Given the description of an element on the screen output the (x, y) to click on. 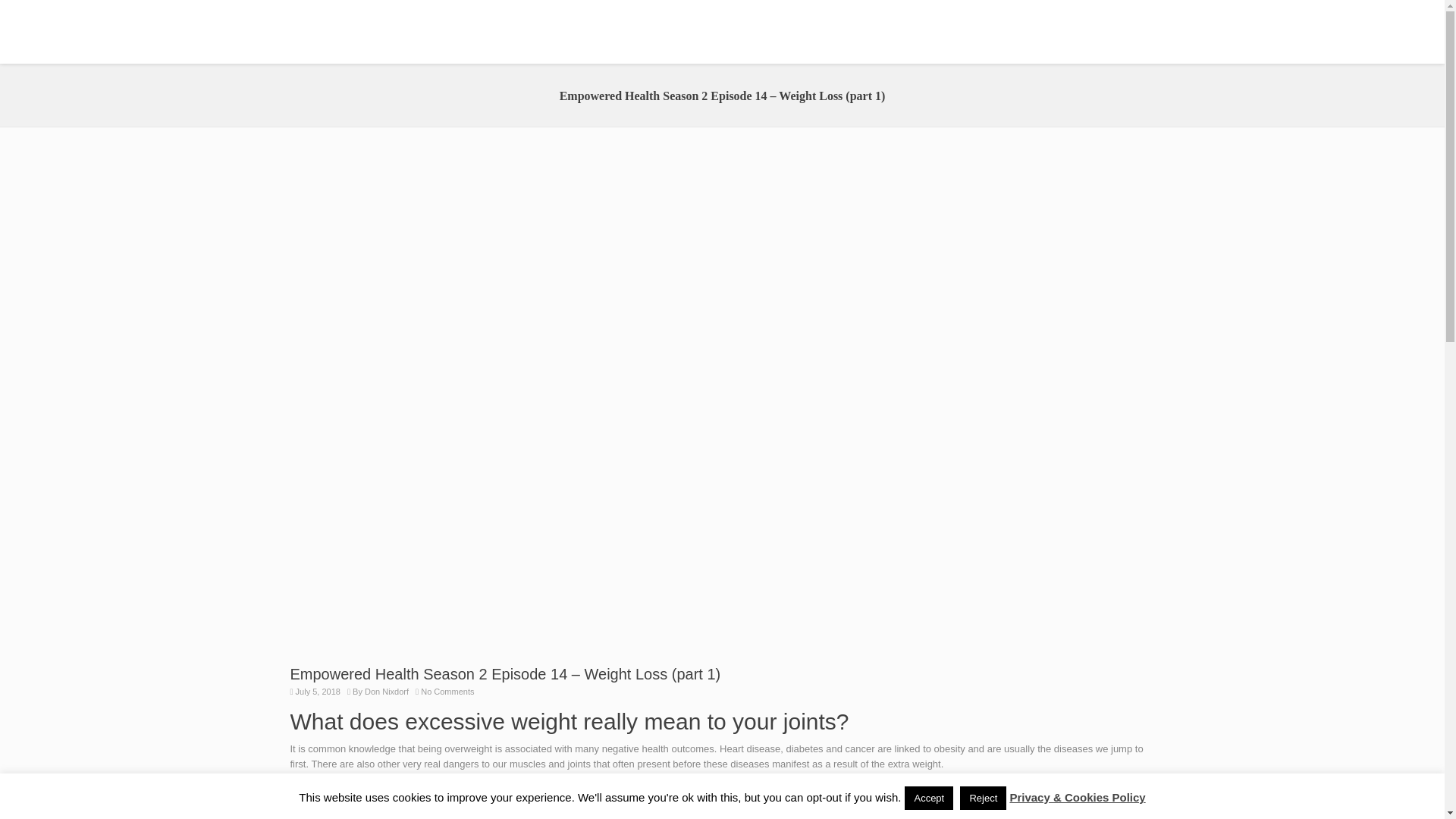
Posts by Don Nixdorf (387, 691)
Video (1079, 31)
Recommended Links (946, 31)
Home (664, 31)
Patient Care (839, 31)
About Dr. Nixdorf (743, 31)
Don Nixdorf (387, 691)
Blog (1032, 31)
Contact (1129, 31)
